Given the description of an element on the screen output the (x, y) to click on. 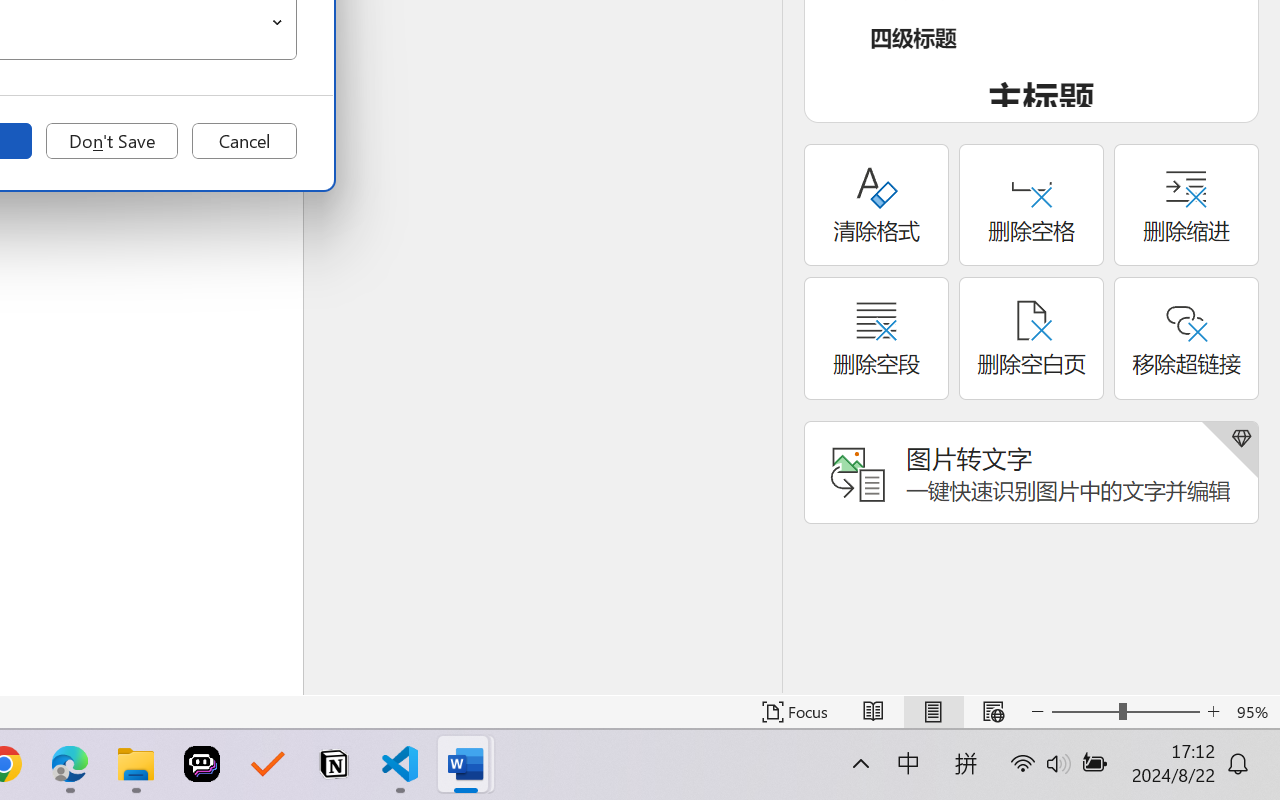
Don't Save (111, 141)
